Given the description of an element on the screen output the (x, y) to click on. 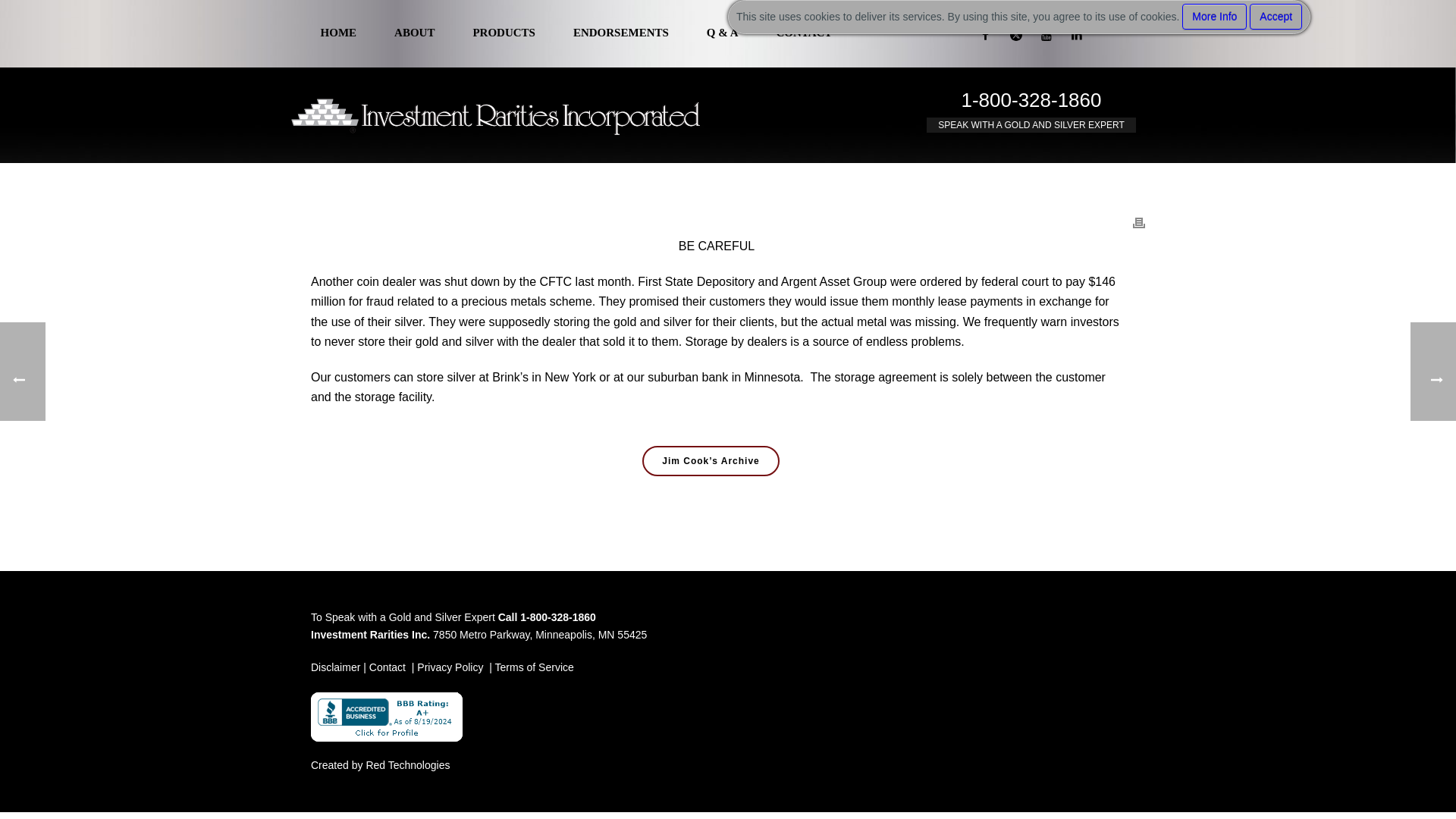
HOME (338, 33)
PRODUCTS (504, 33)
ENDORSEMENTS (620, 33)
ABOUT (413, 33)
ENDORSEMENTS (620, 33)
CONTACT (803, 33)
CONTACT (803, 33)
HOME (338, 33)
PRODUCTS (504, 33)
SPEAK WITH A GOLD AND SILVER EXPERT (1030, 124)
